Given the description of an element on the screen output the (x, y) to click on. 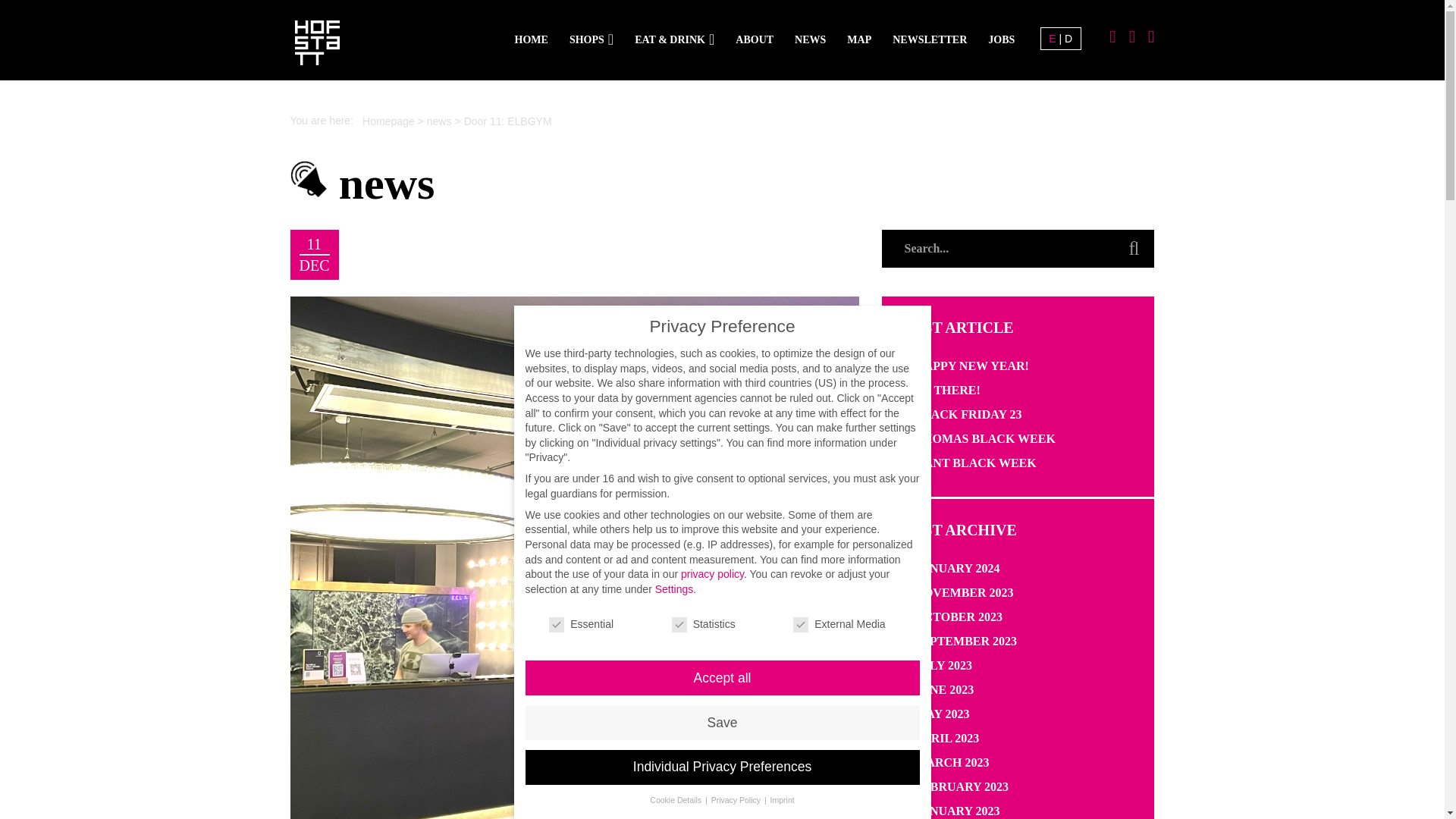
Homepage (388, 121)
Door 11: ELBGYM (507, 121)
Homepage (388, 121)
NEWSLETTER (929, 40)
